Given the description of an element on the screen output the (x, y) to click on. 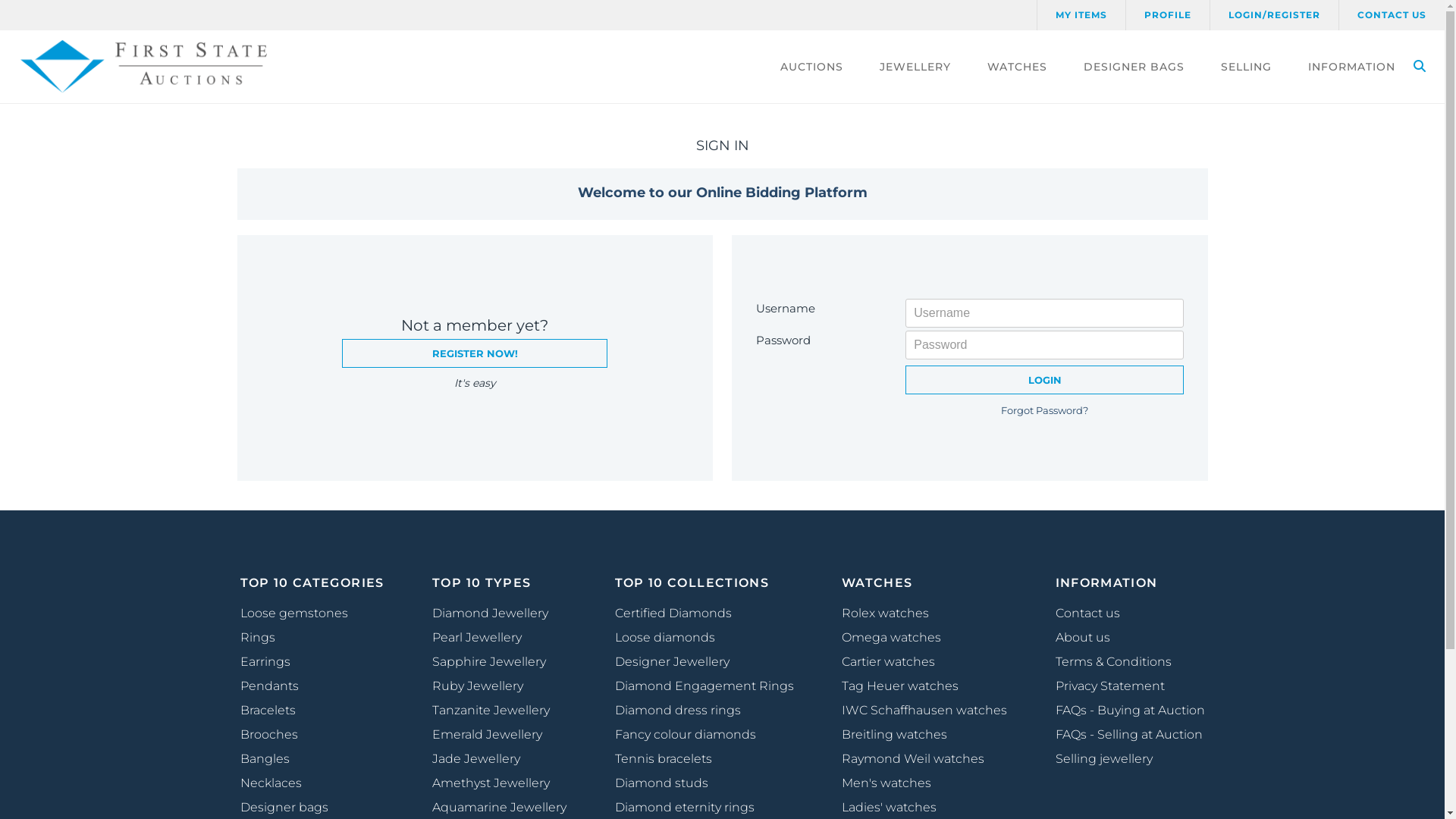
Sapphire Jewellery Element type: text (499, 661)
IWC Schaffhausen watches Element type: text (924, 710)
Tanzanite Jewellery Element type: text (499, 710)
MY ITEMS Element type: text (1081, 15)
Diamond Jewellery Element type: text (499, 613)
LOGIN/REGISTER Element type: text (1274, 15)
Forgot Password? Element type: text (1044, 410)
Men's watches Element type: text (924, 783)
Fancy colour diamonds Element type: text (704, 734)
Omega watches Element type: text (924, 637)
Bracelets Element type: text (311, 710)
Rolex watches Element type: text (924, 613)
Loose diamonds Element type: text (704, 637)
Rings Element type: text (311, 637)
Login Element type: text (1044, 379)
Pearl Jewellery Element type: text (499, 637)
Contact us Element type: text (1130, 613)
Earrings Element type: text (311, 661)
DESIGNER BAGS Element type: text (1133, 66)
Tag Heuer watches Element type: text (924, 686)
Bangles Element type: text (311, 758)
Selling jewellery Element type: text (1130, 758)
CONTACT US Element type: text (1391, 15)
FAQs - Buying at Auction Element type: text (1130, 710)
Home Element type: hover (146, 66)
AUCTIONS Element type: text (811, 66)
Certified Diamonds Element type: text (704, 613)
PROFILE Element type: text (1167, 15)
Terms & Conditions Element type: text (1130, 661)
Loose gemstones Element type: text (311, 613)
Cartier watches Element type: text (924, 661)
Emerald Jewellery Element type: text (499, 734)
Designer Jewellery Element type: text (704, 661)
Brooches Element type: text (311, 734)
DESIGNER BAGS Element type: text (58, 315)
Diamond Engagement Rings Element type: text (704, 686)
Jade Jewellery Element type: text (499, 758)
SEARCH Element type: text (1419, 66)
Ruby Jewellery Element type: text (499, 686)
Pendants Element type: text (311, 686)
Amethyst Jewellery Element type: text (499, 783)
Necklaces Element type: text (311, 783)
Diamond studs Element type: text (704, 783)
Privacy Statement Element type: text (1130, 686)
Diamond dress rings Element type: text (704, 710)
About us Element type: text (1130, 637)
FAQs - Selling at Auction Element type: text (1130, 734)
Breitling watches Element type: text (924, 734)
REGISTER NOW! Element type: text (474, 352)
Tennis bracelets Element type: text (704, 758)
Raymond Weil watches Element type: text (924, 758)
